Given the description of an element on the screen output the (x, y) to click on. 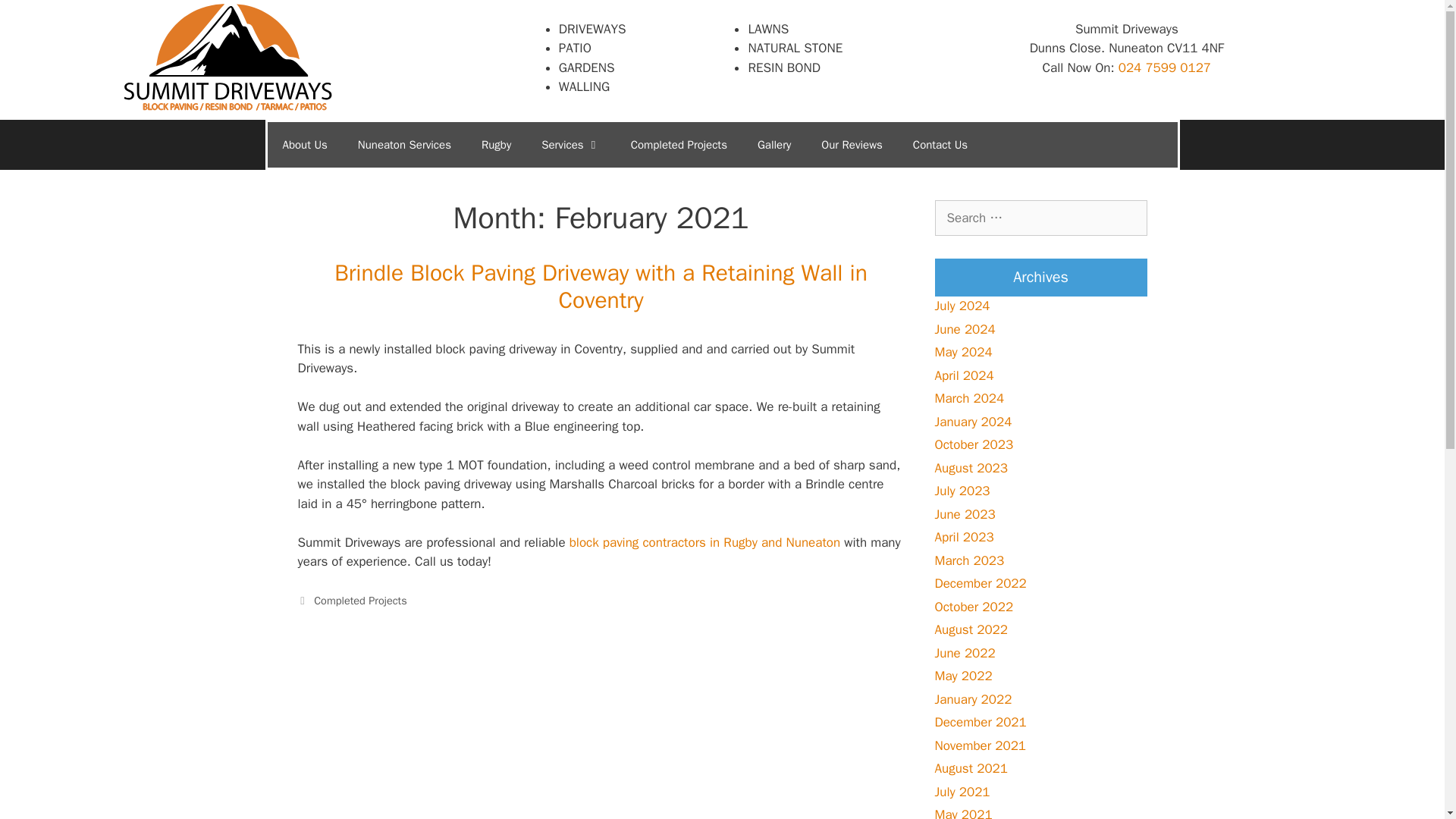
Services (569, 144)
Summit Driveways (228, 56)
July 2024 (962, 305)
Completed Projects (678, 144)
block paving contractors in Rugby and Nuneaton (705, 541)
Gallery (774, 144)
Our Reviews (852, 144)
Rugby (495, 144)
024 7599 0127 (1164, 66)
June 2024 (964, 329)
About Us (304, 144)
Completed Projects (360, 600)
Search for: (1040, 217)
April 2024 (963, 374)
Search (35, 18)
